Given the description of an element on the screen output the (x, y) to click on. 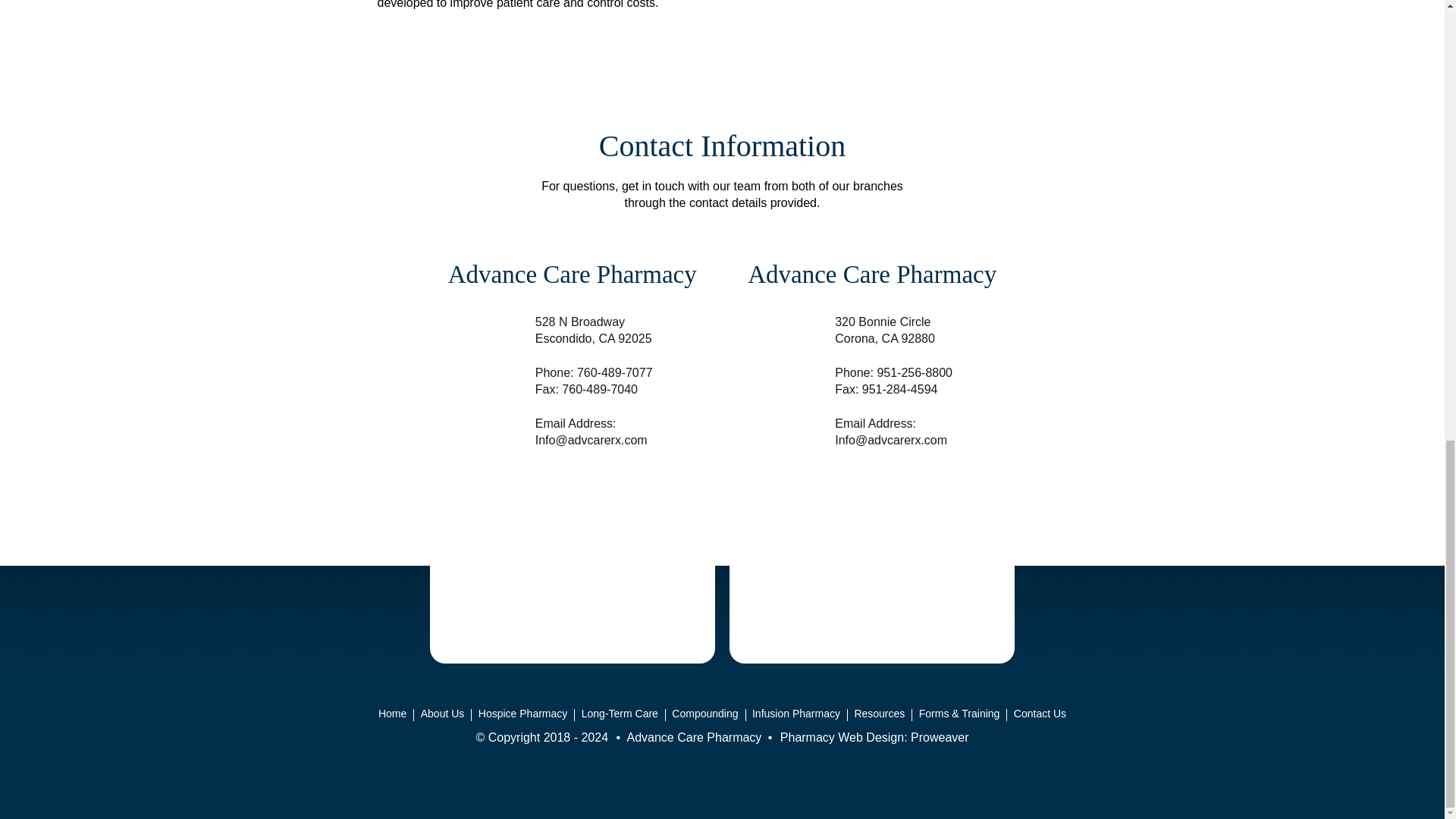
Resources (879, 713)
Contact Us (1040, 713)
Pharmacy Web Design (842, 737)
Long-Term Care (619, 713)
Home (392, 713)
Compounding (704, 713)
Hospice Pharmacy (523, 713)
About Us (442, 713)
Infusion Pharmacy (795, 713)
Proweaver (939, 737)
